Given the description of an element on the screen output the (x, y) to click on. 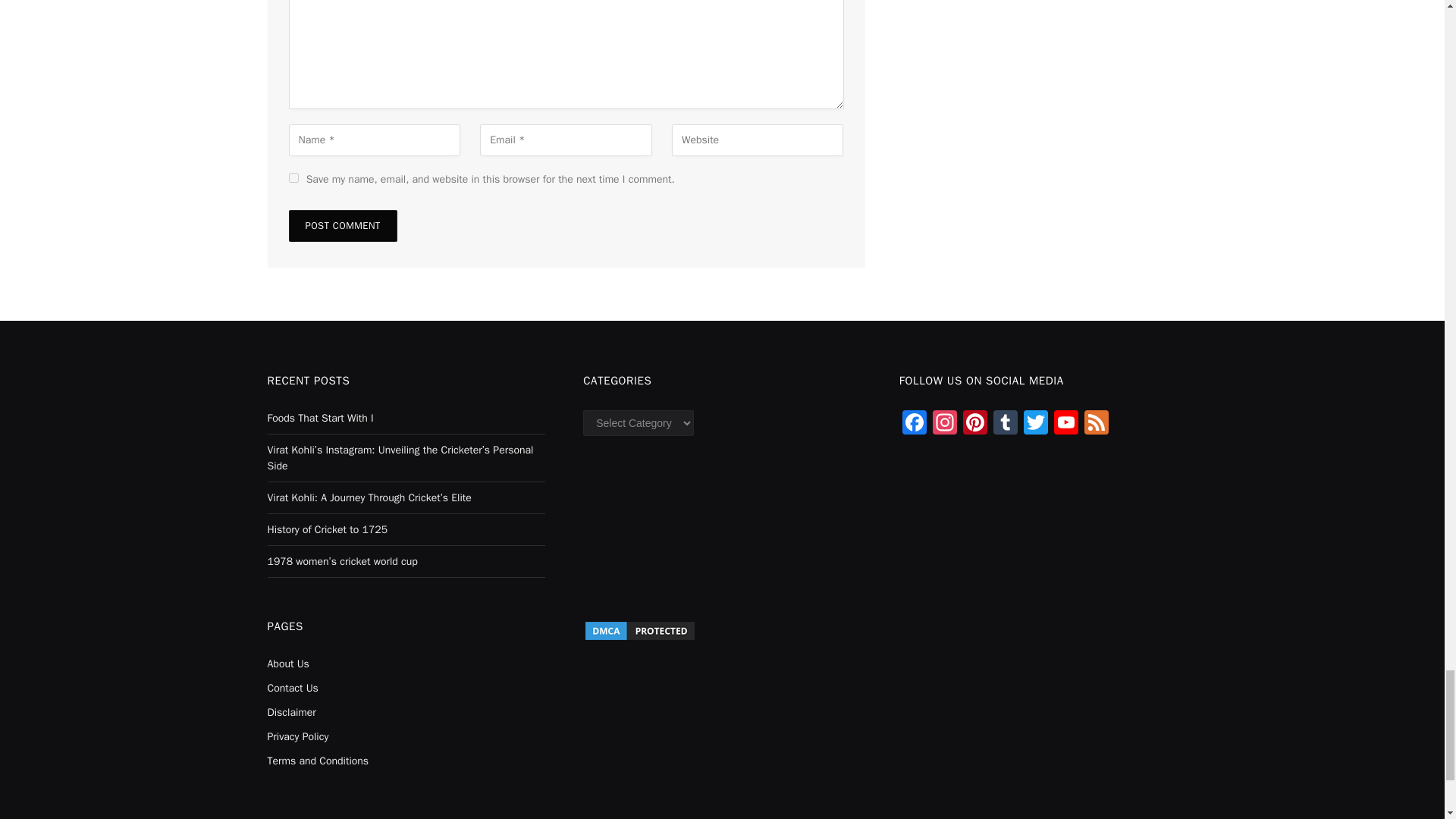
Post Comment (342, 225)
yes (293, 177)
